Given the description of an element on the screen output the (x, y) to click on. 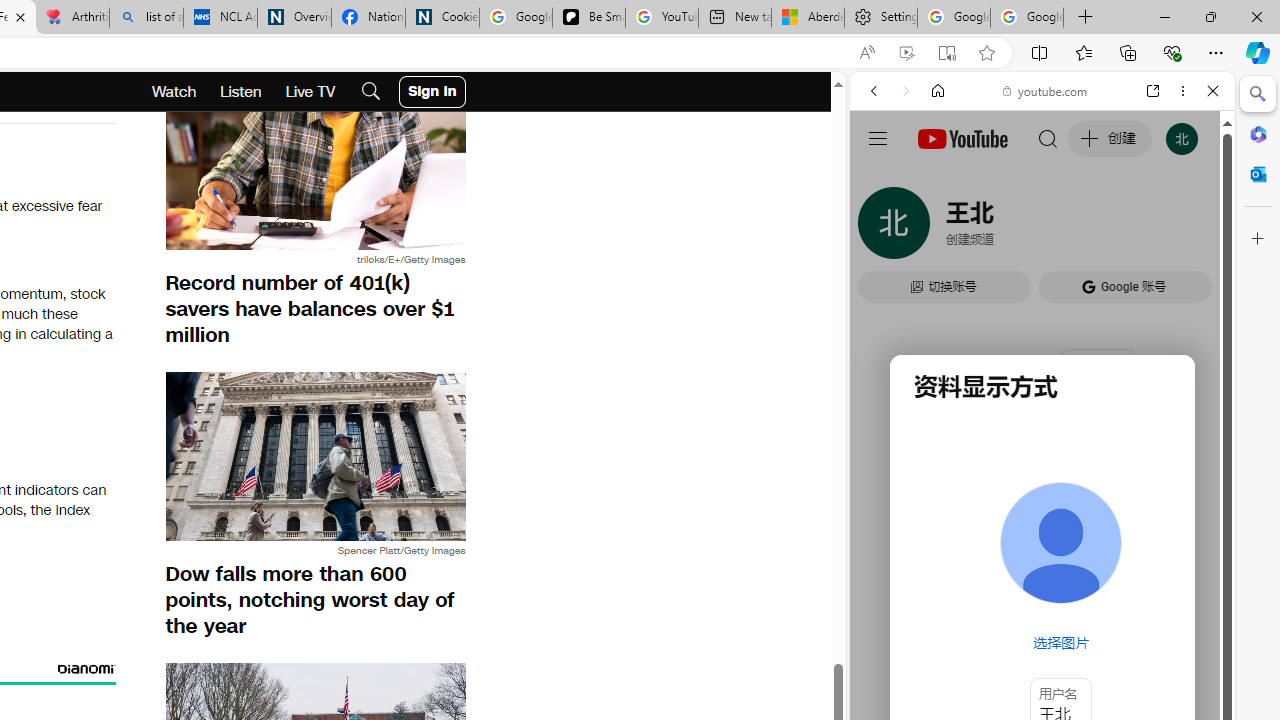
Global web icon (888, 288)
Be Smart | creating Science videos | Patreon (588, 17)
Trailer #2 [HD] (1042, 592)
NCL Adult Asthma Inhaler Choice Guideline (220, 17)
Close Customize pane (1258, 239)
New tab (734, 17)
Listen (241, 92)
